Given the description of an element on the screen output the (x, y) to click on. 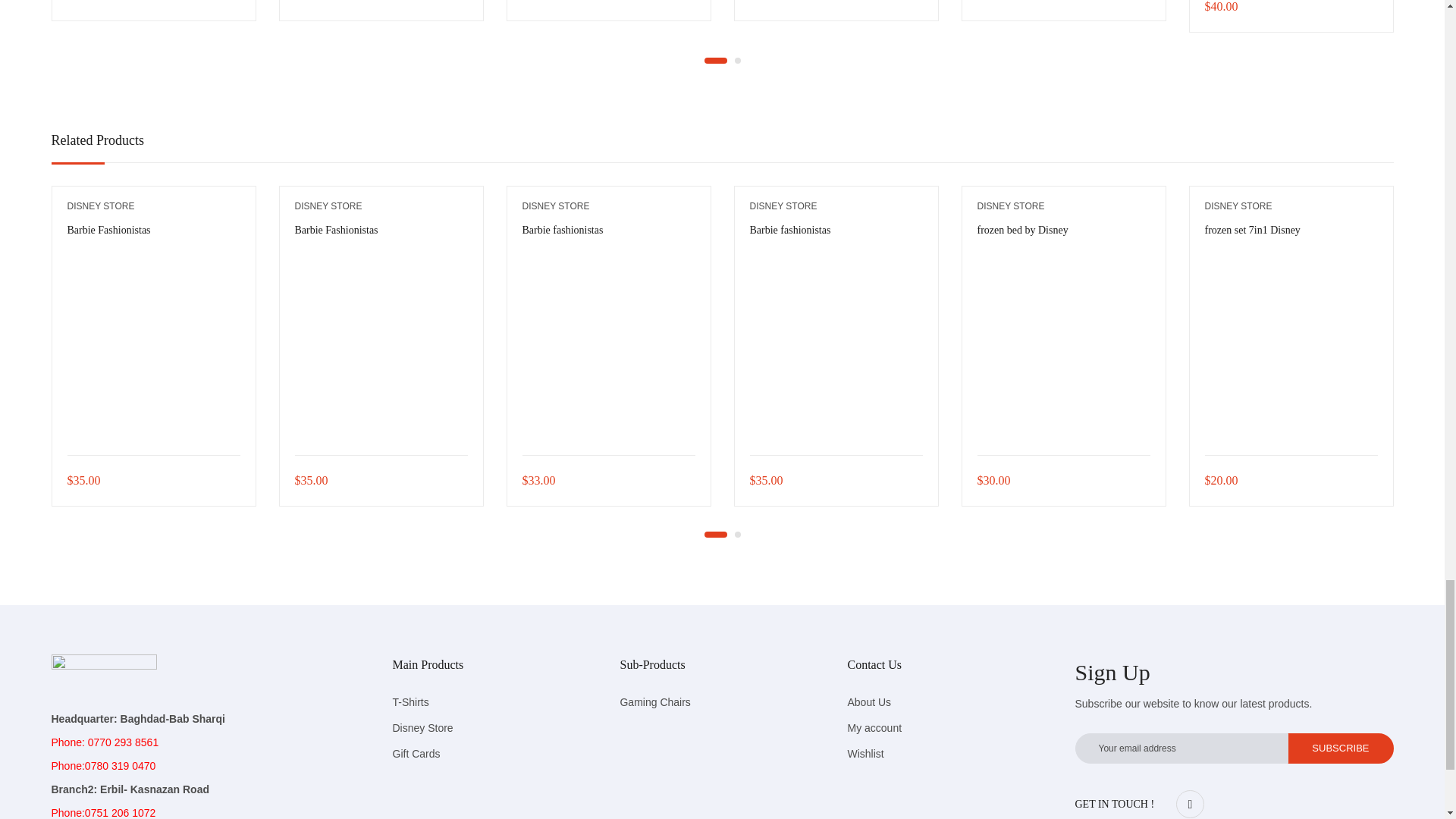
SUBSCRIBE (1340, 748)
